Given the description of an element on the screen output the (x, y) to click on. 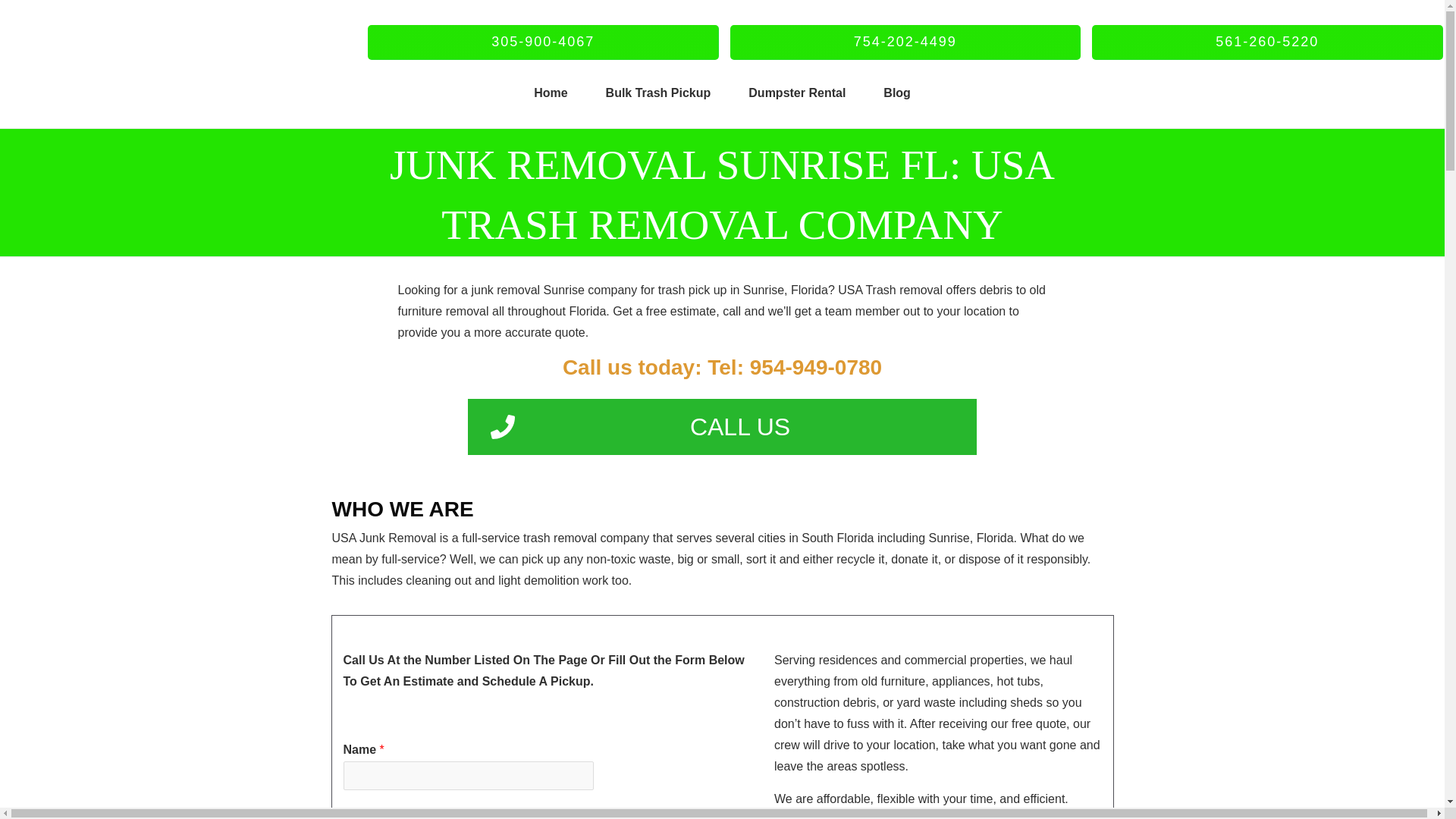
Home (550, 93)
754-202-4499 (904, 42)
Bulk Trash Pickup (658, 93)
Dumpster Rental (796, 93)
Dumpster Rental (796, 93)
Blog (897, 93)
561-260-5220 (1267, 42)
Bulk Trash Pickup Locations (658, 93)
305-900-4067 (543, 42)
CALL US (721, 426)
